Given the description of an element on the screen output the (x, y) to click on. 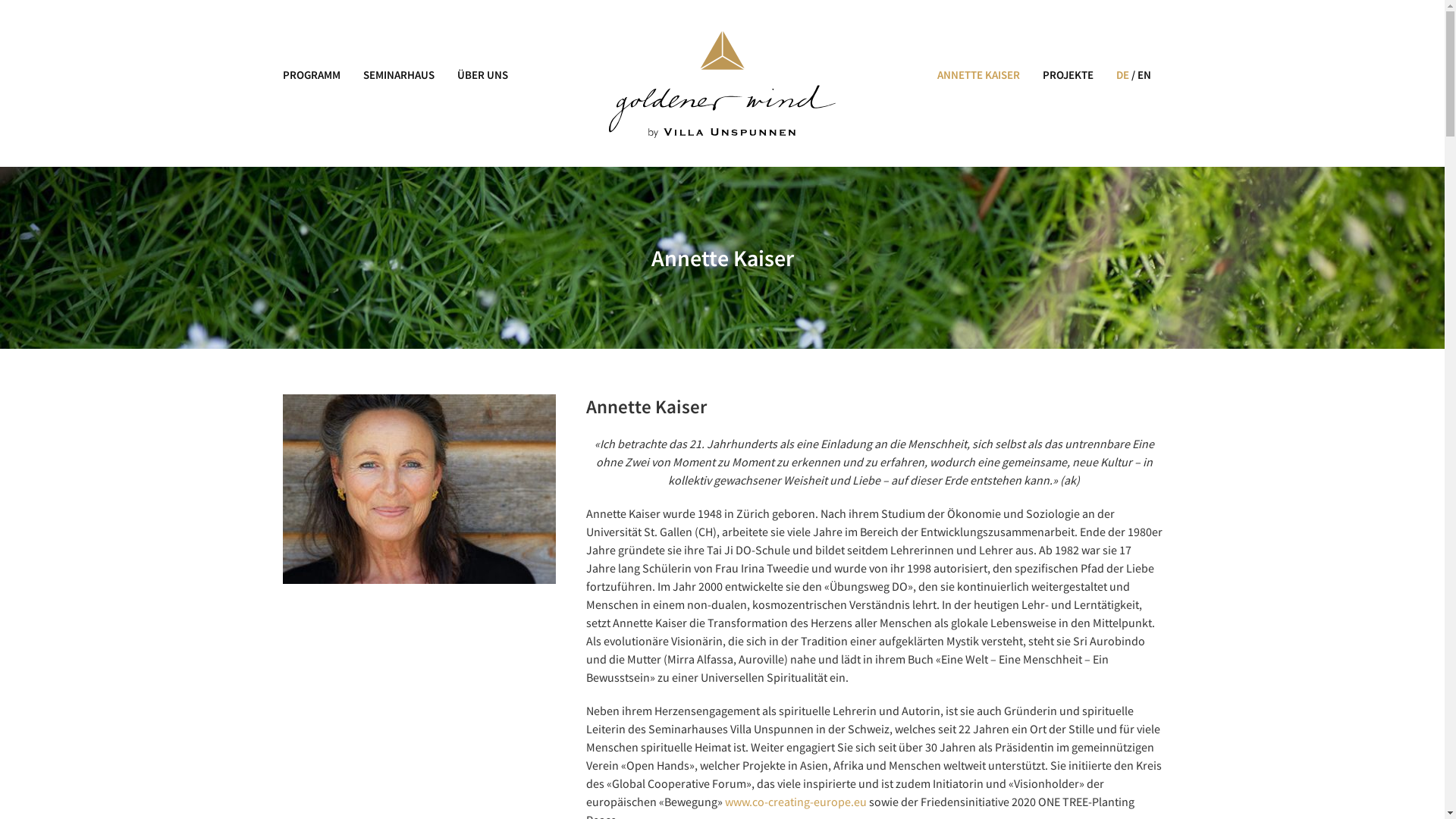
EN Element type: text (1144, 74)
www.co-creating-europe.eu Element type: text (795, 800)
SEMINARHAUS Element type: text (398, 74)
PROJEKTE Element type: text (1067, 74)
PROGRAMM Element type: text (316, 74)
ANNETTE KAISER Element type: text (984, 74)
Logo   Annette KaiserGoldener Wind Element type: hover (721, 84)
DE Element type: text (1119, 74)
